Given the description of an element on the screen output the (x, y) to click on. 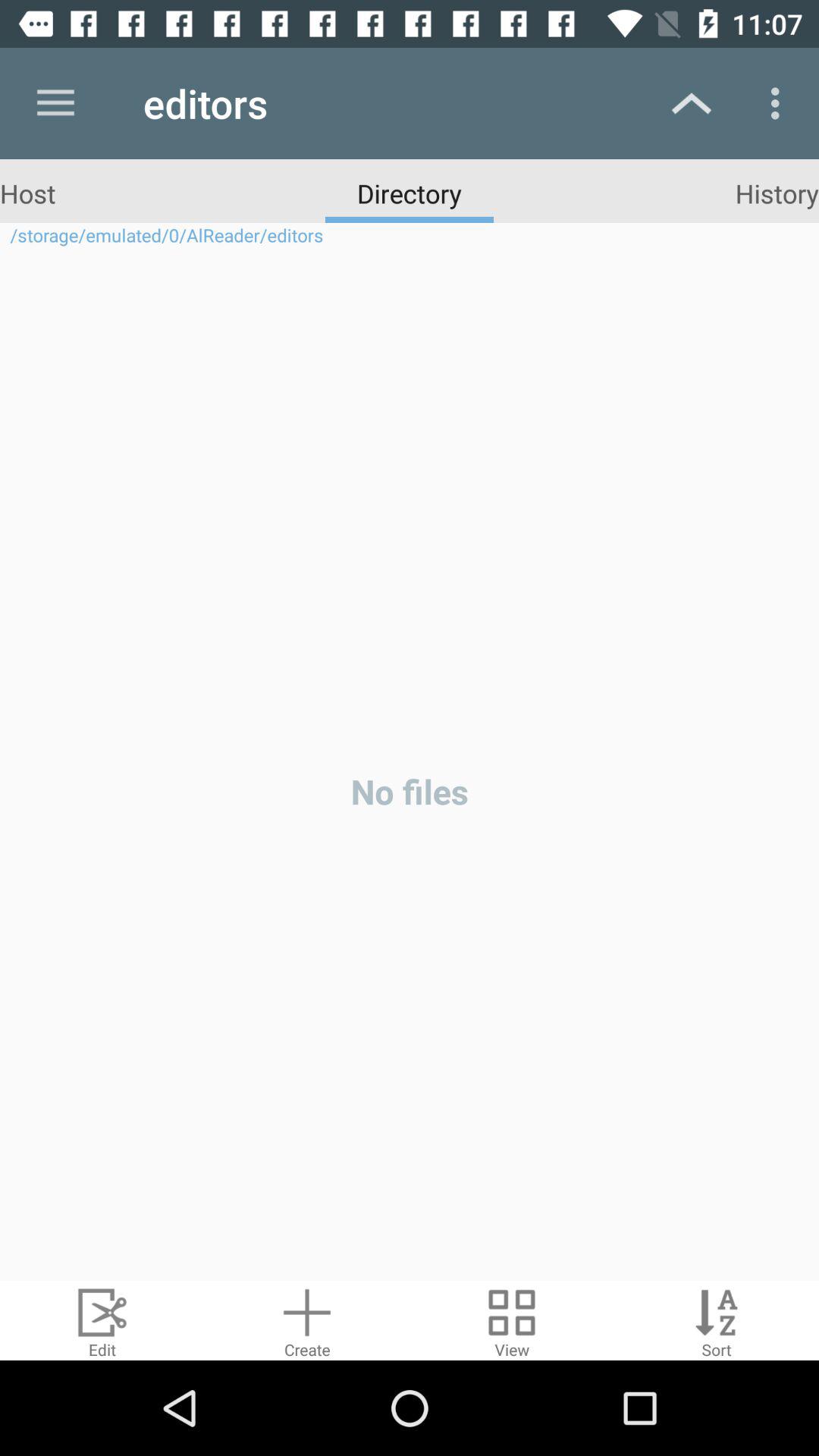
select the icon to the left of the editors icon (55, 103)
